Given the description of an element on the screen output the (x, y) to click on. 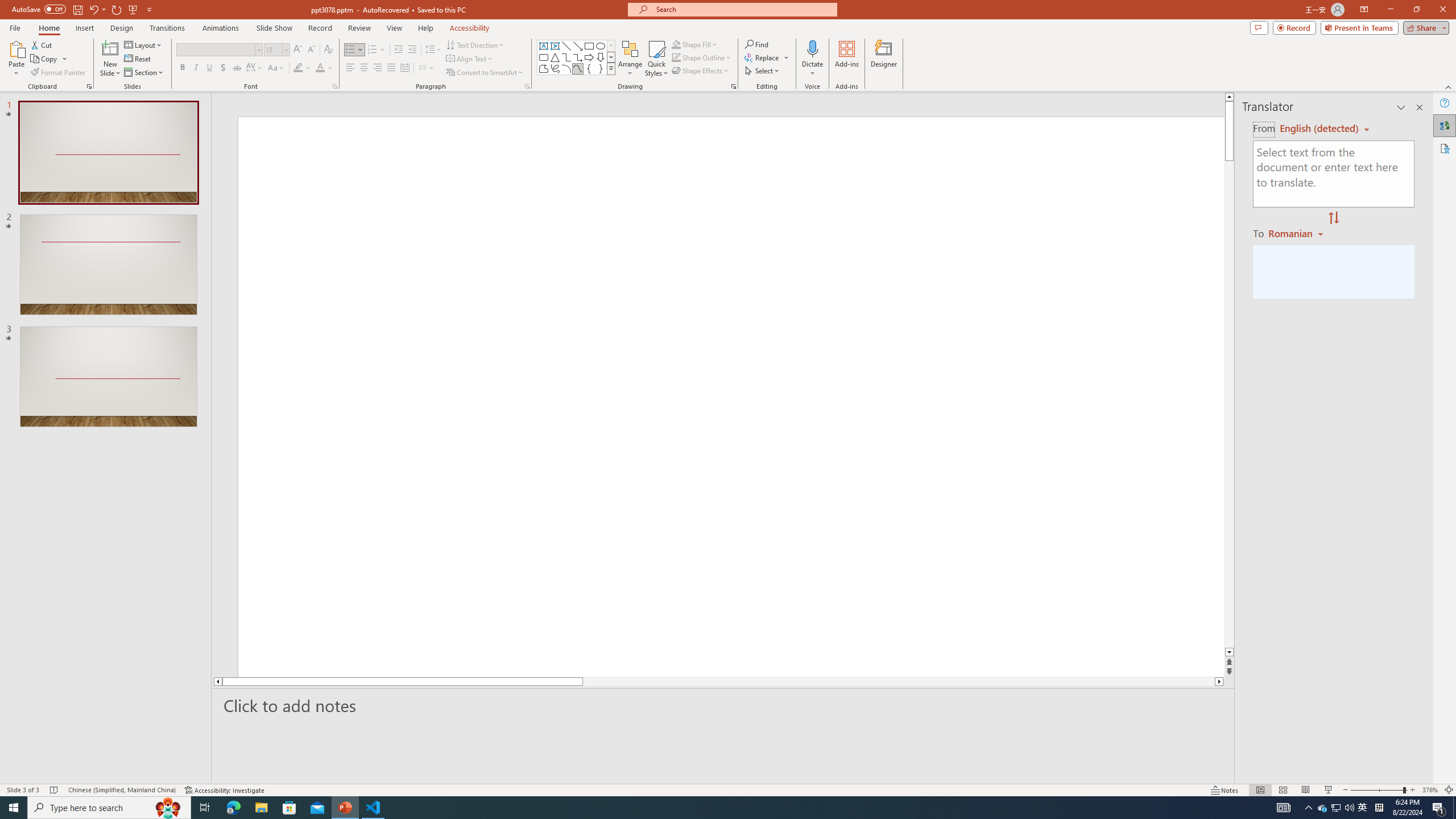
Romanian (1296, 232)
Arrange (630, 58)
Slide Notes (724, 705)
Change Case (276, 67)
